Given the description of an element on the screen output the (x, y) to click on. 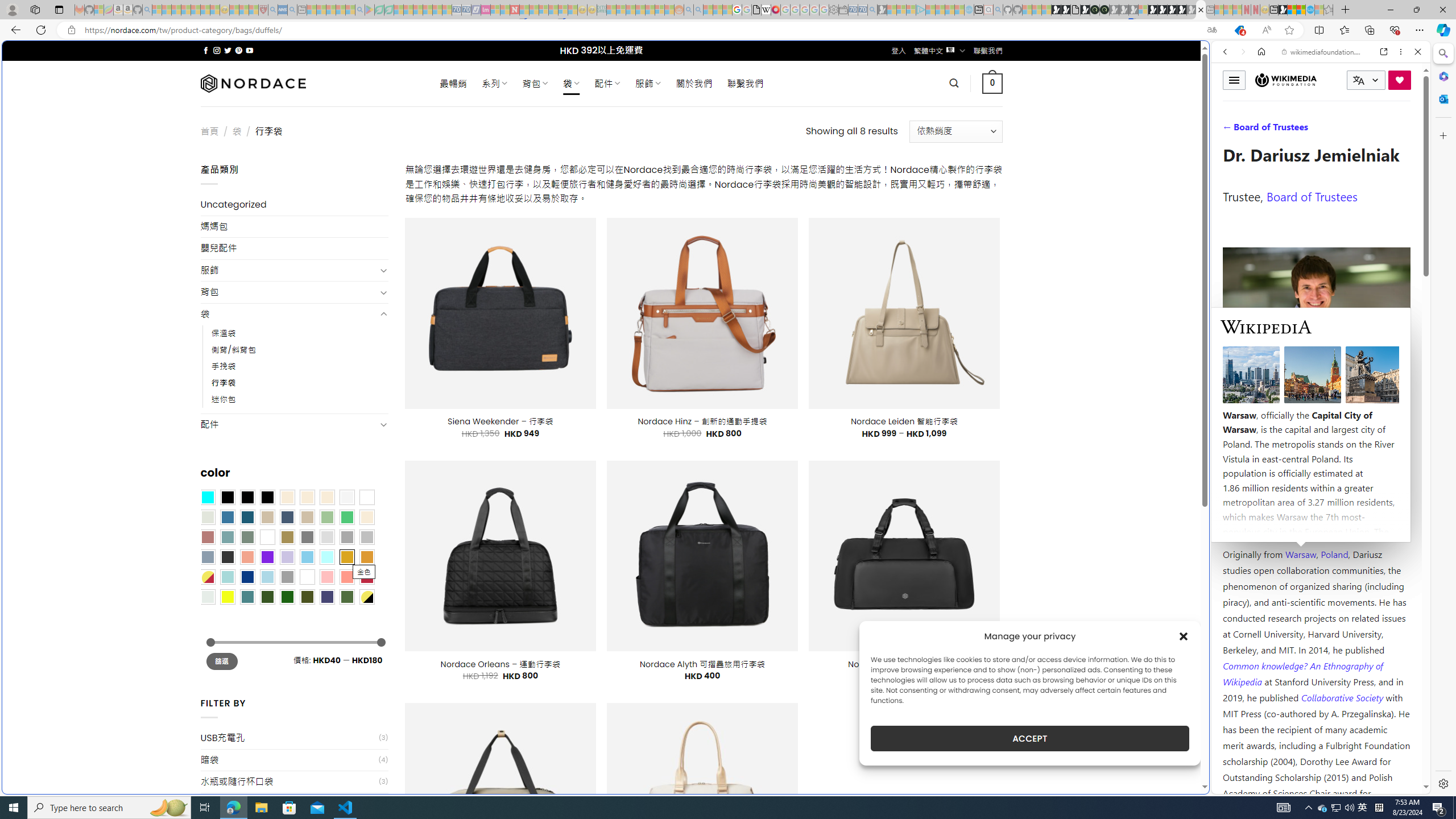
Expert Portfolios - Sleeping (639, 9)
Uncategorized (294, 204)
